Given the description of an element on the screen output the (x, y) to click on. 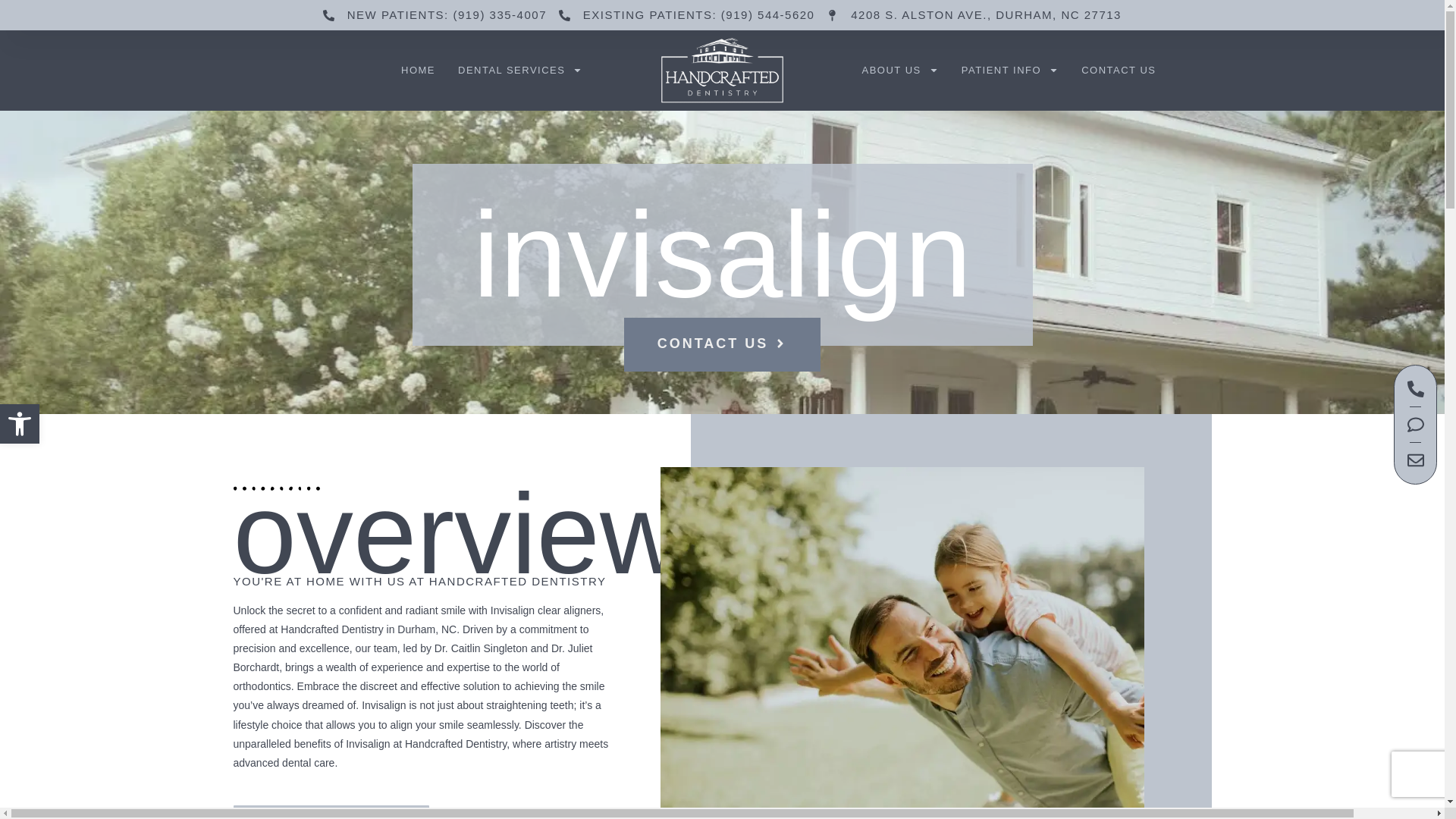
4208 S. ALSTON AVE., DURHAM, NC 27713 (974, 14)
HOME (418, 69)
Accessibility Tools (19, 422)
Accessibility Tools (19, 423)
DENTAL SERVICES (520, 69)
